Given the description of an element on the screen output the (x, y) to click on. 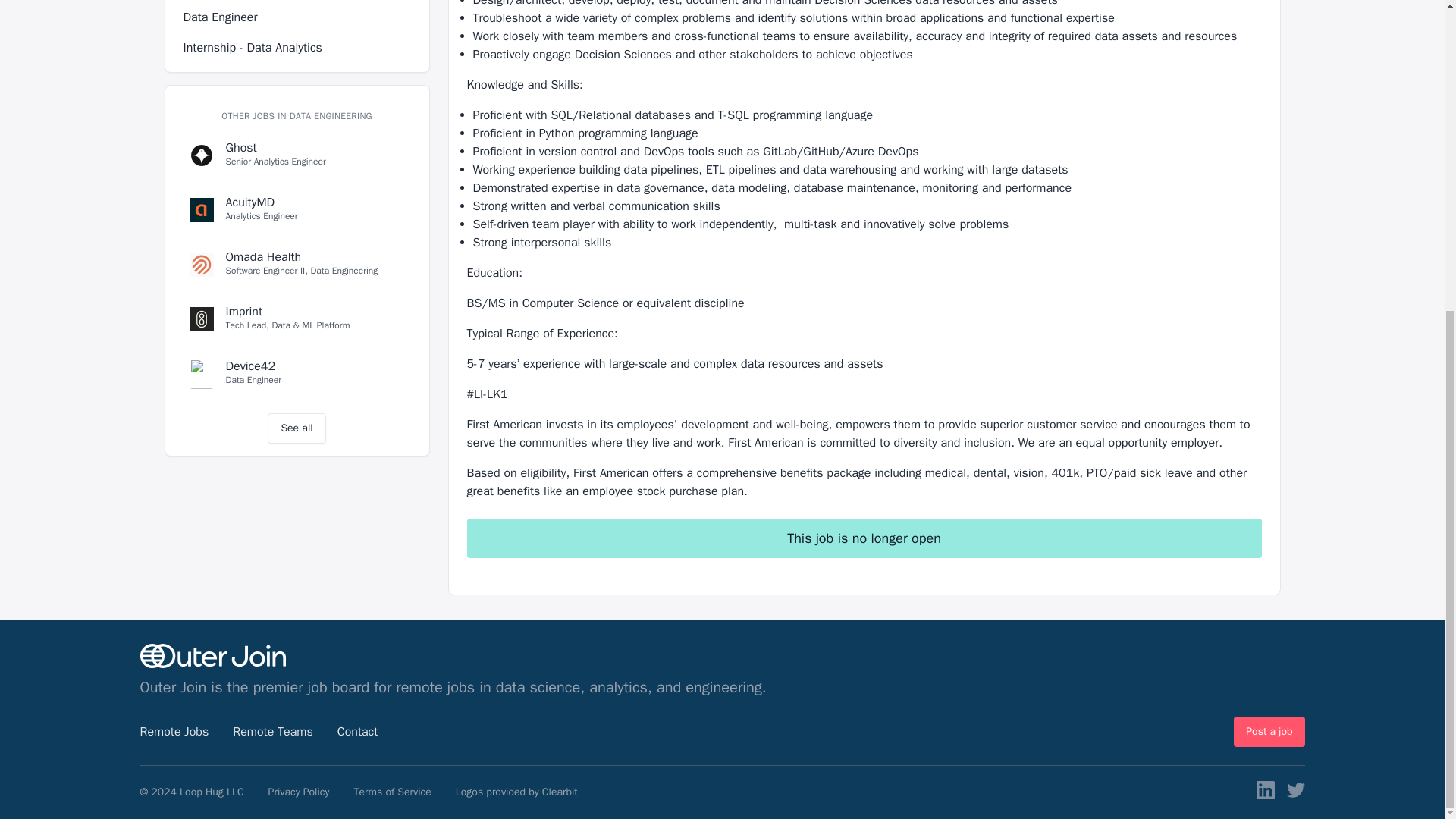
See all (296, 373)
Associate Data Analyst (296, 155)
Internship - Data Analytics (295, 428)
Data Engineer (296, 264)
